Given the description of an element on the screen output the (x, y) to click on. 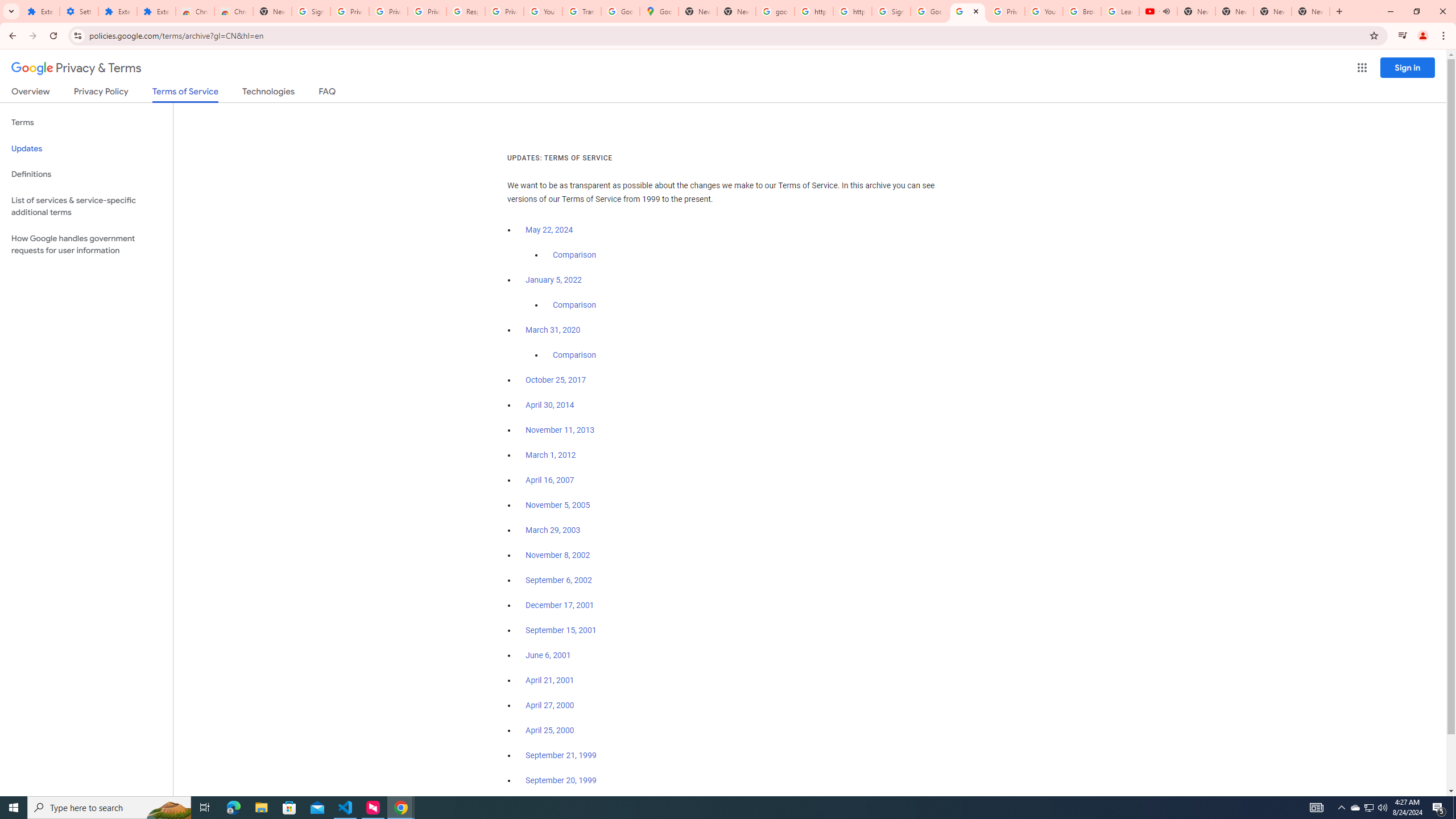
List of services & service-specific additional terms (86, 206)
YouTube (1043, 11)
New Tab (272, 11)
Settings (79, 11)
November 5, 2005 (557, 505)
November 8, 2002 (557, 555)
March 29, 2003 (552, 530)
